Given the description of an element on the screen output the (x, y) to click on. 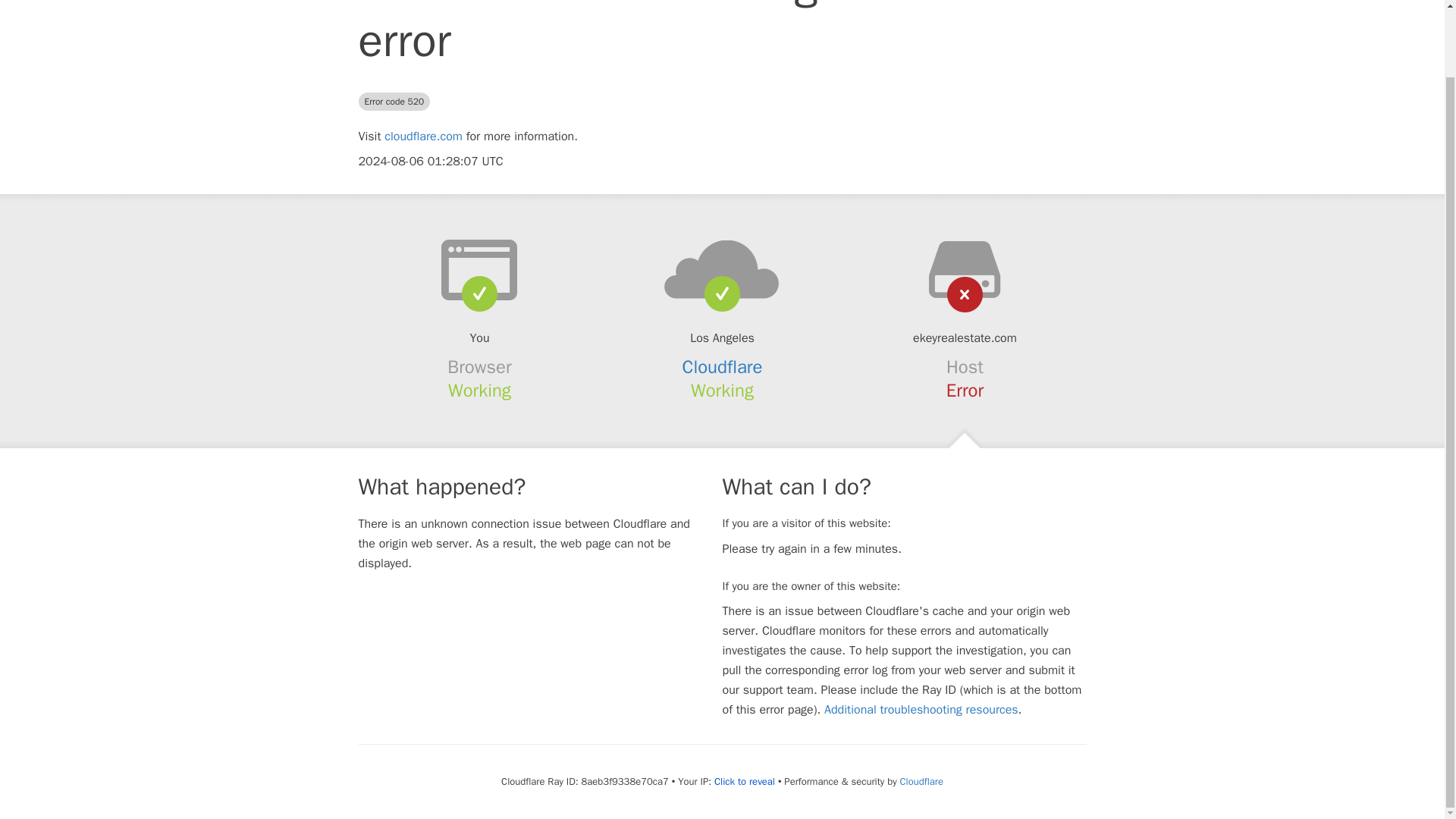
Click to reveal (744, 781)
Additional troubleshooting resources (920, 709)
cloudflare.com (423, 136)
Cloudflare (722, 366)
Cloudflare (921, 780)
